Given the description of an element on the screen output the (x, y) to click on. 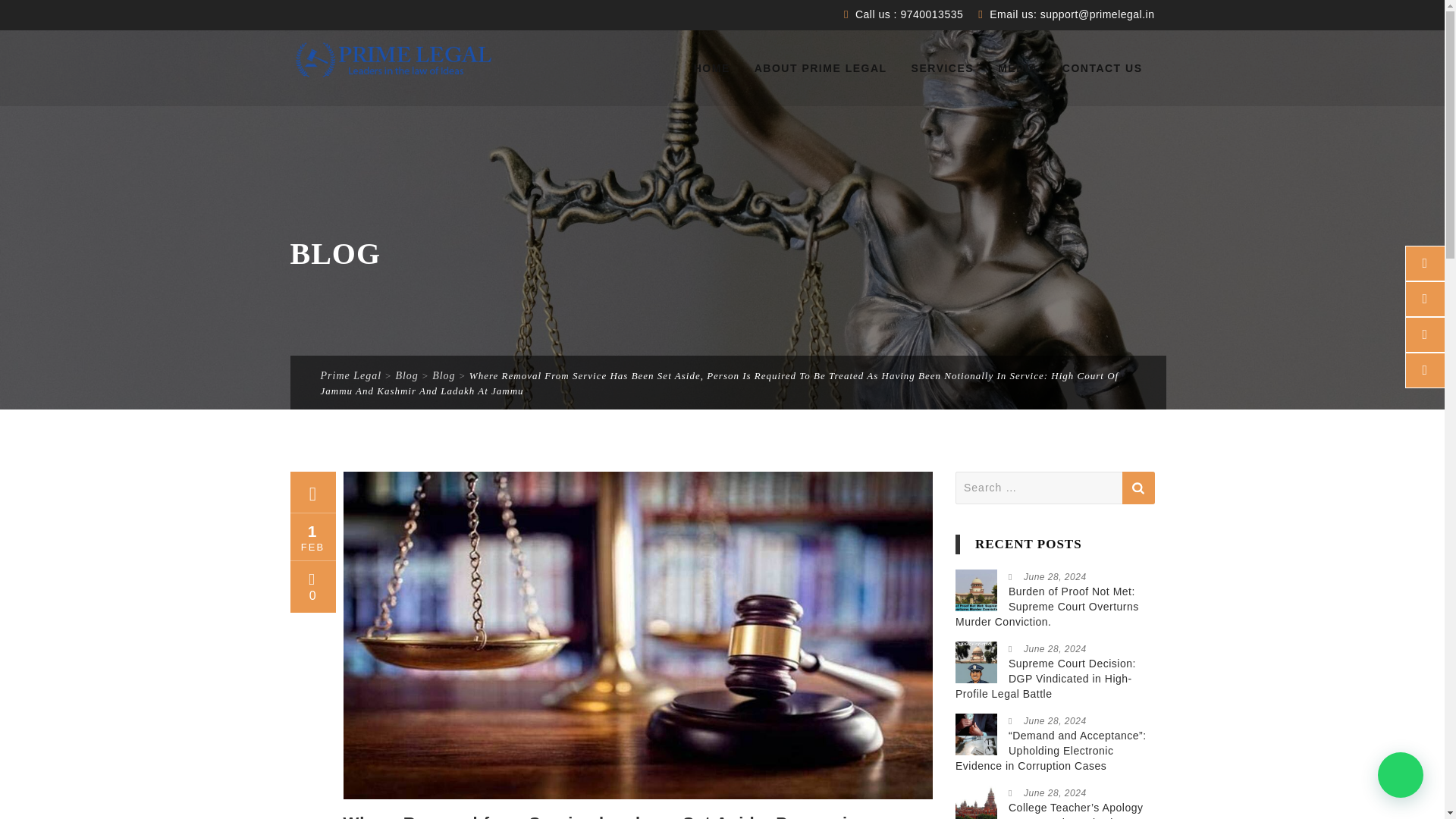
Blog (443, 375)
Prime Legal (393, 60)
Blog (405, 375)
Search (1138, 487)
9740013535 (929, 14)
CONTACT US (1102, 68)
Search (1138, 487)
Search (1138, 487)
Prime Legal (350, 375)
ABOUT PRIME LEGAL (820, 68)
